Given the description of an element on the screen output the (x, y) to click on. 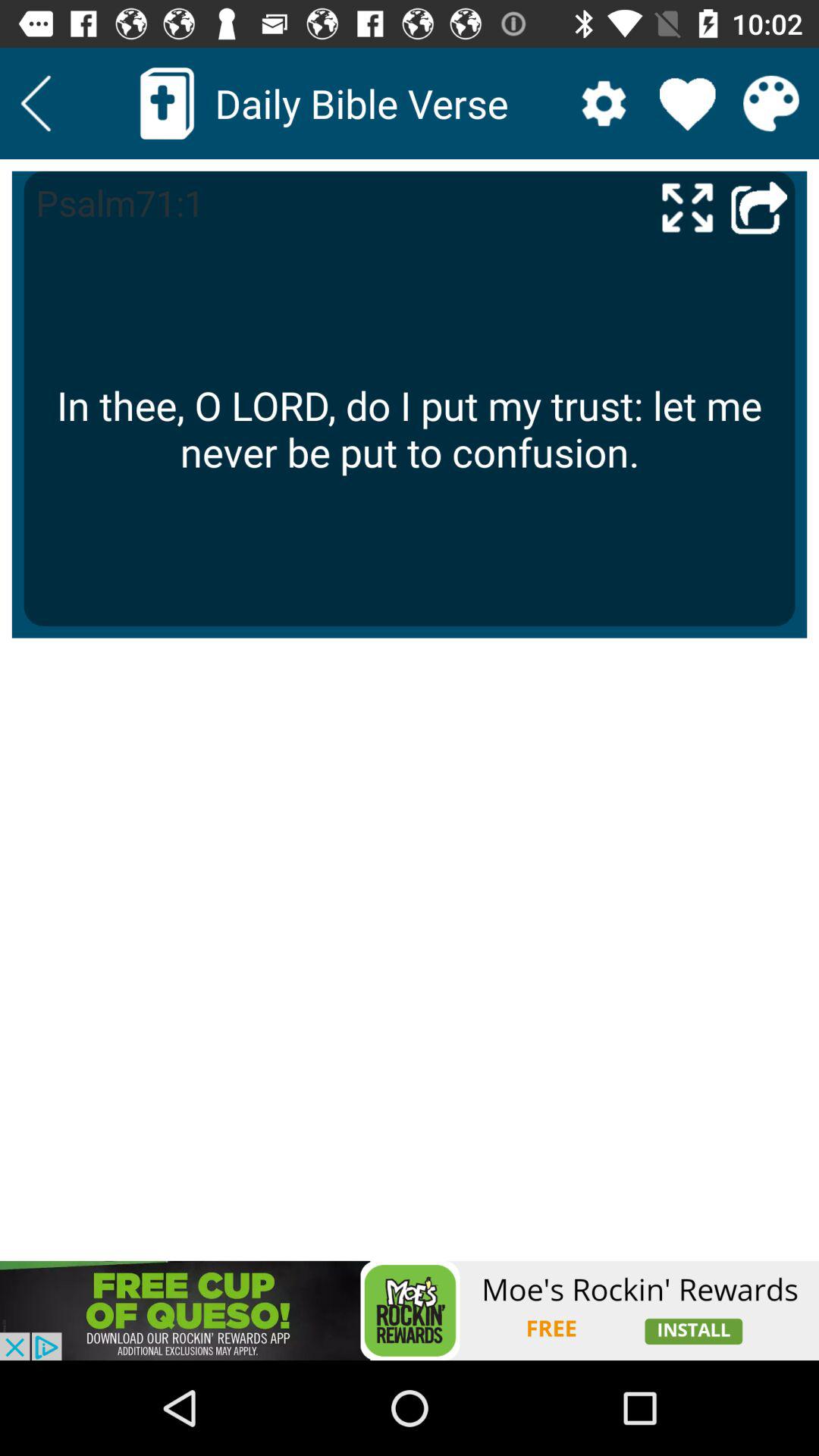
options menu (603, 103)
